Given the description of an element on the screen output the (x, y) to click on. 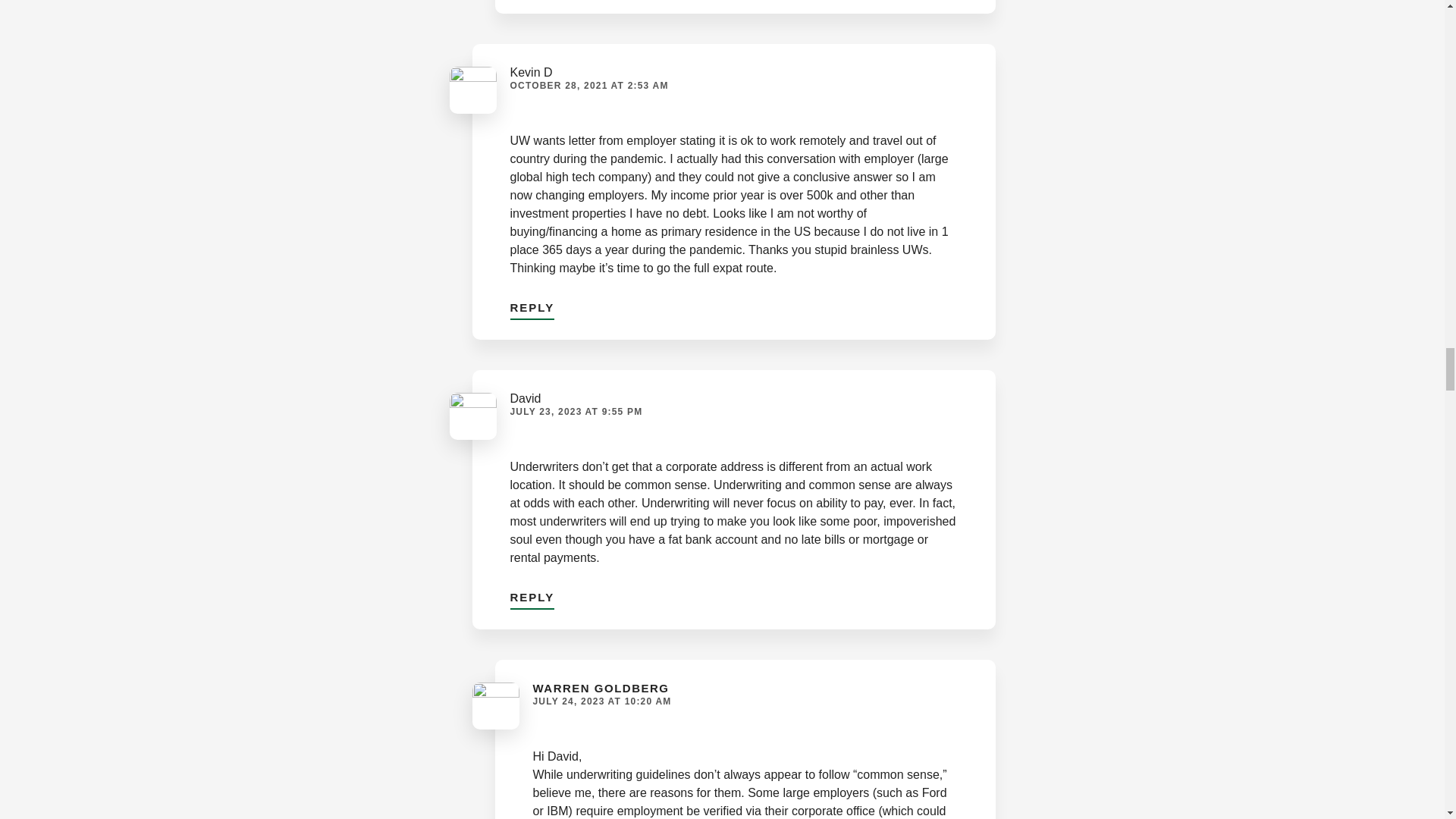
JULY 23, 2023 AT 9:55 PM (575, 411)
REPLY (531, 304)
WARREN GOLDBERG (600, 687)
OCTOBER 28, 2021 AT 2:53 AM (588, 85)
REPLY (531, 593)
